Given the description of an element on the screen output the (x, y) to click on. 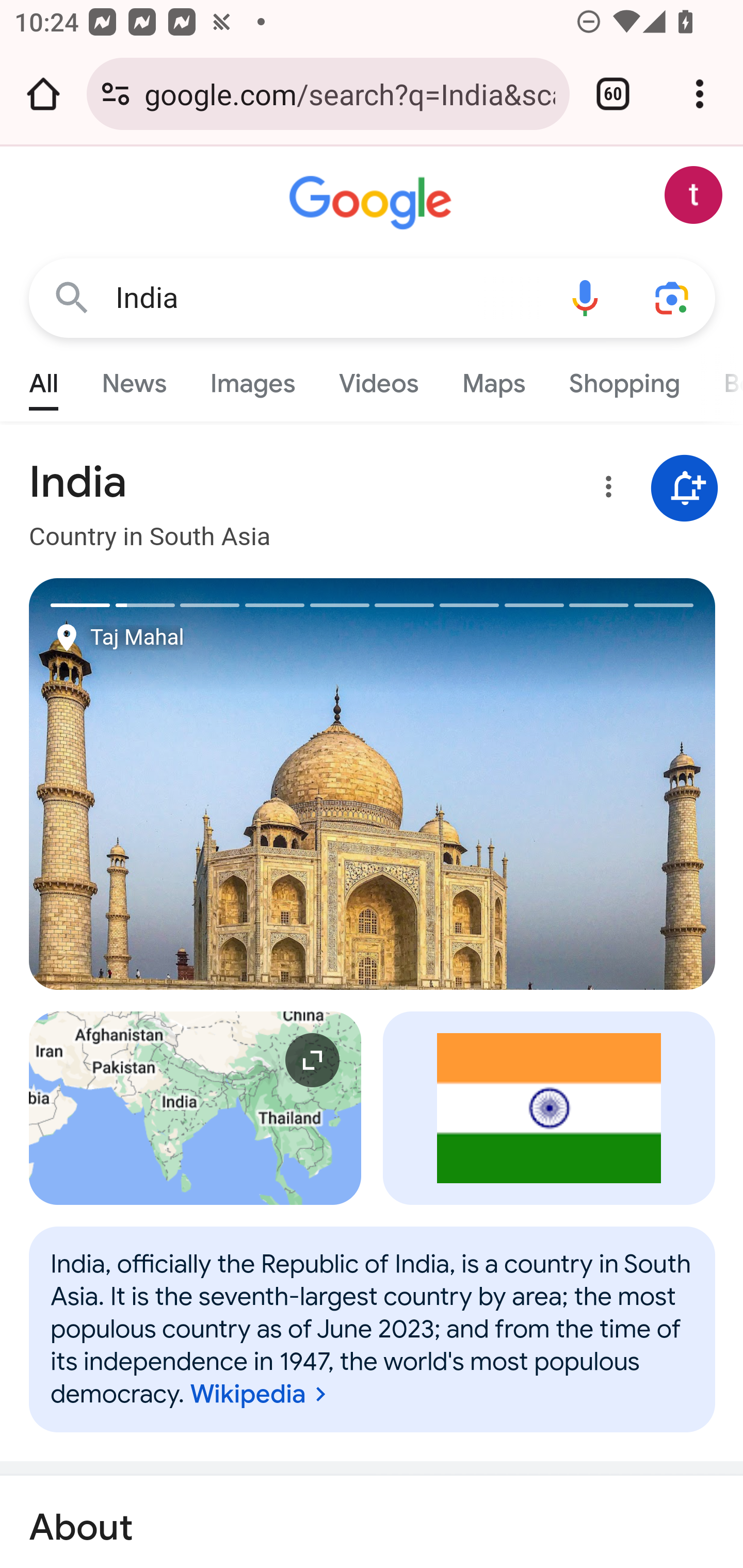
Open the home page (43, 93)
Connection is secure (115, 93)
Switch or close tabs (612, 93)
Customize and control Google Chrome (699, 93)
Google (372, 203)
Google Search (71, 296)
Search using your camera or photos (672, 296)
India (328, 297)
News (134, 378)
Images (252, 378)
Videos (378, 378)
Maps (493, 378)
Shopping (623, 378)
Get notifications about India (684, 489)
More options (605, 489)
Previous image (200, 783)
Next image (544, 783)
Expand map (195, 1108)
Image of the flag. (549, 1108)
India (372, 1328)
